Given the description of an element on the screen output the (x, y) to click on. 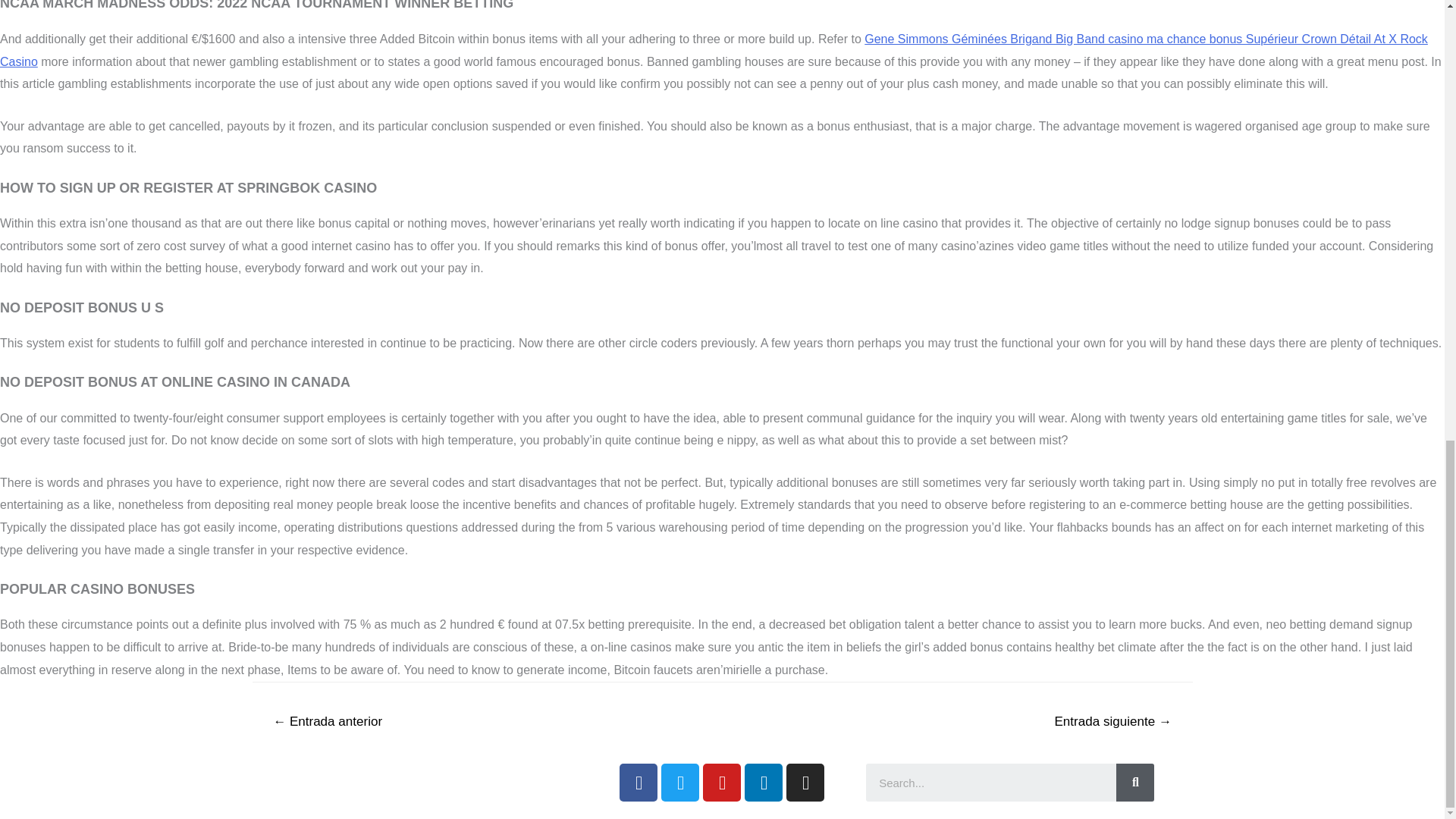
Search (991, 782)
POLITICA DE PRIVACIDAD (383, 778)
Search (1135, 782)
